Given the description of an element on the screen output the (x, y) to click on. 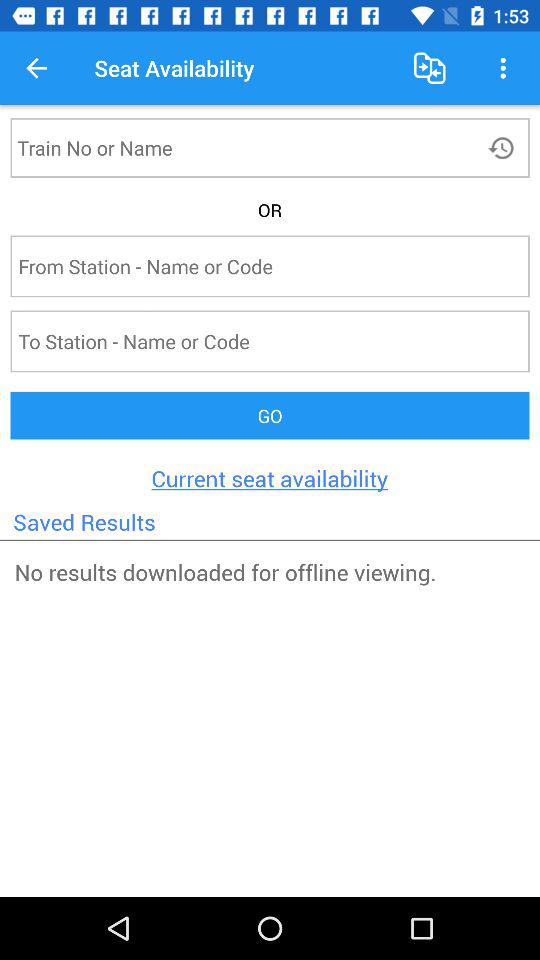
click go (269, 415)
